Given the description of an element on the screen output the (x, y) to click on. 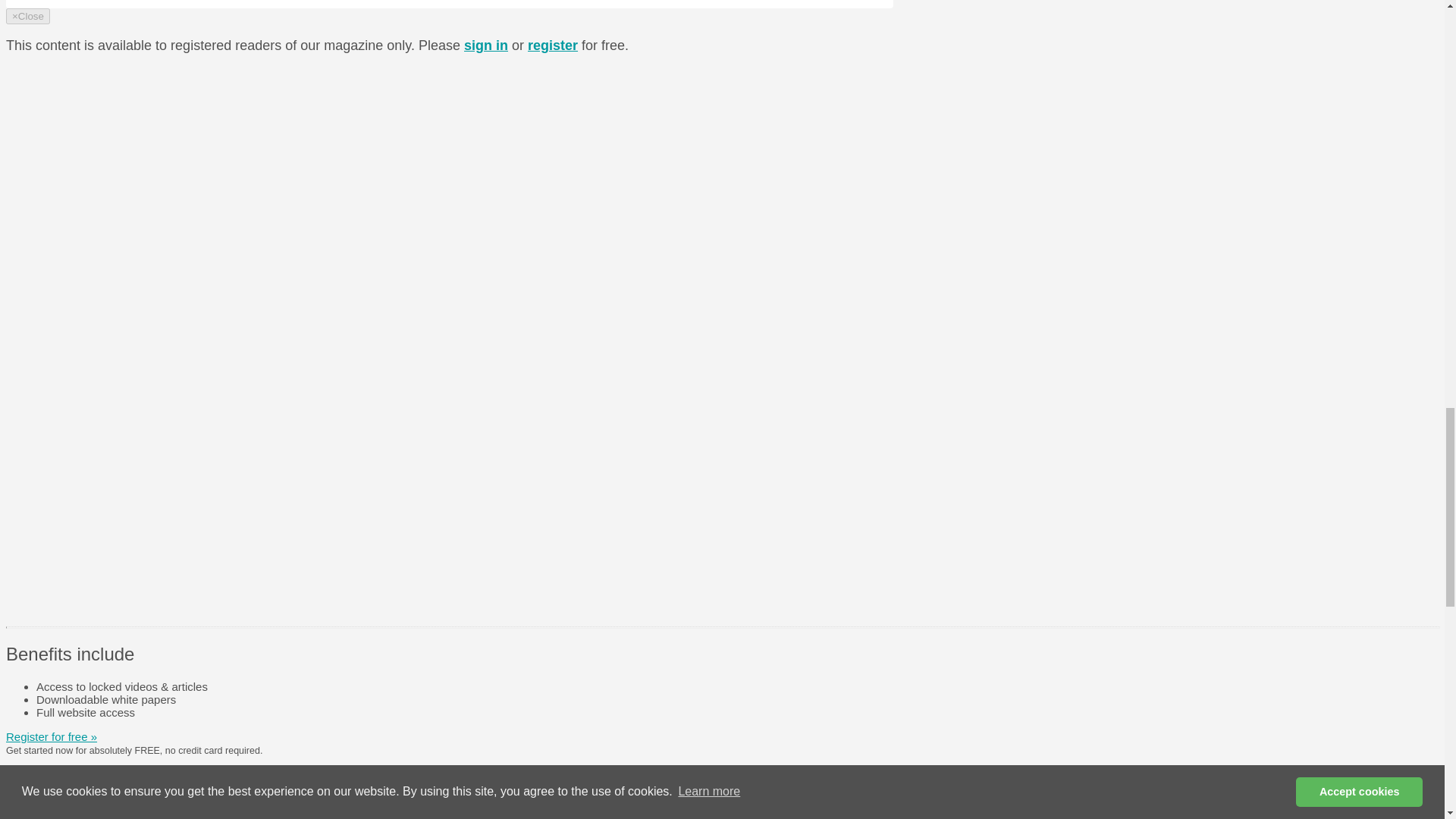
sign in (486, 45)
register (552, 45)
3rd party ad content (774, 99)
3rd party ad content (774, 307)
3rd party ad content (774, 515)
